Given the description of an element on the screen output the (x, y) to click on. 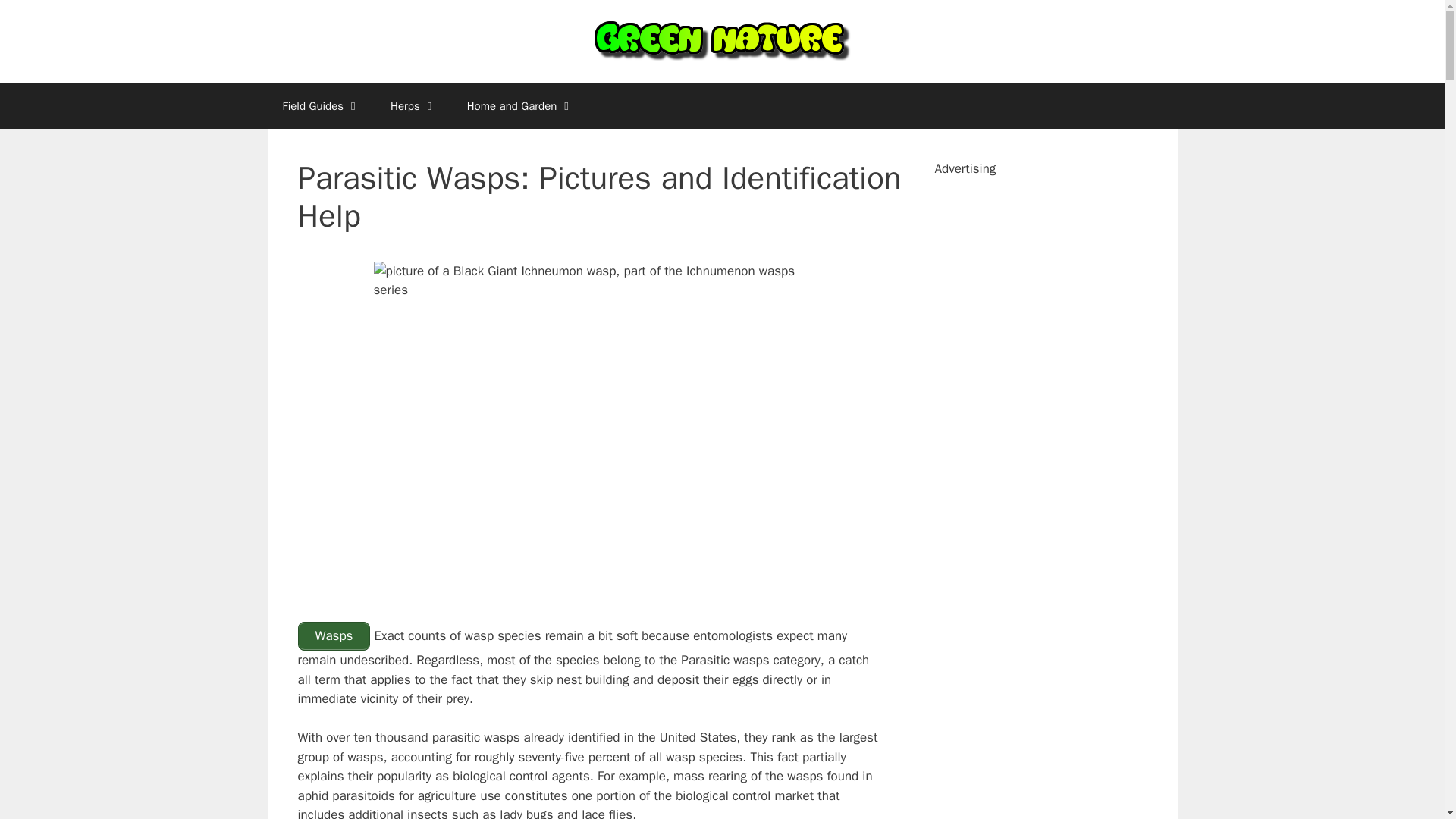
Field Guides (320, 105)
Home and Garden (520, 105)
Wasps (333, 635)
Herps (413, 105)
